Given the description of an element on the screen output the (x, y) to click on. 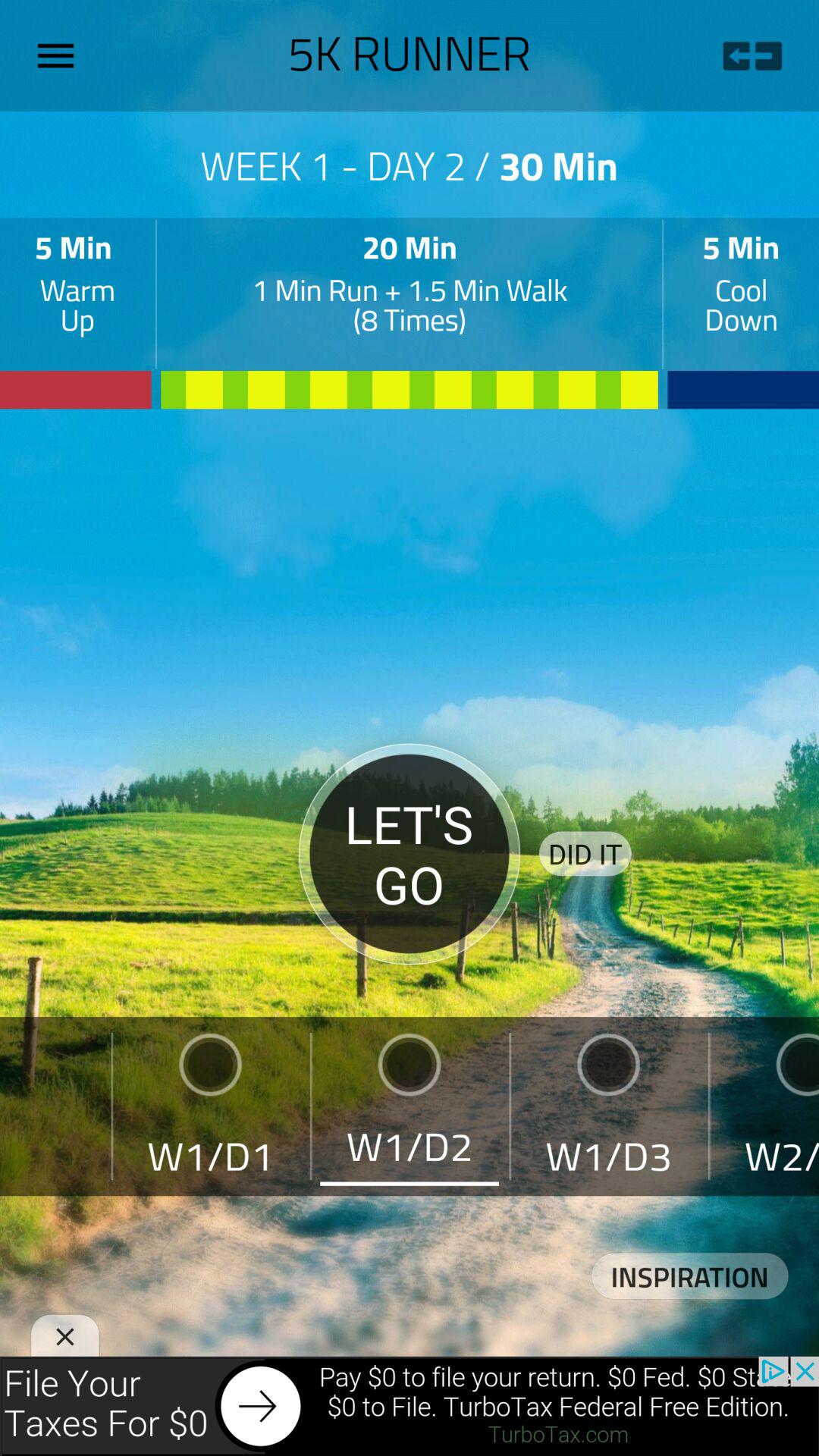
go back (752, 55)
